Given the description of an element on the screen output the (x, y) to click on. 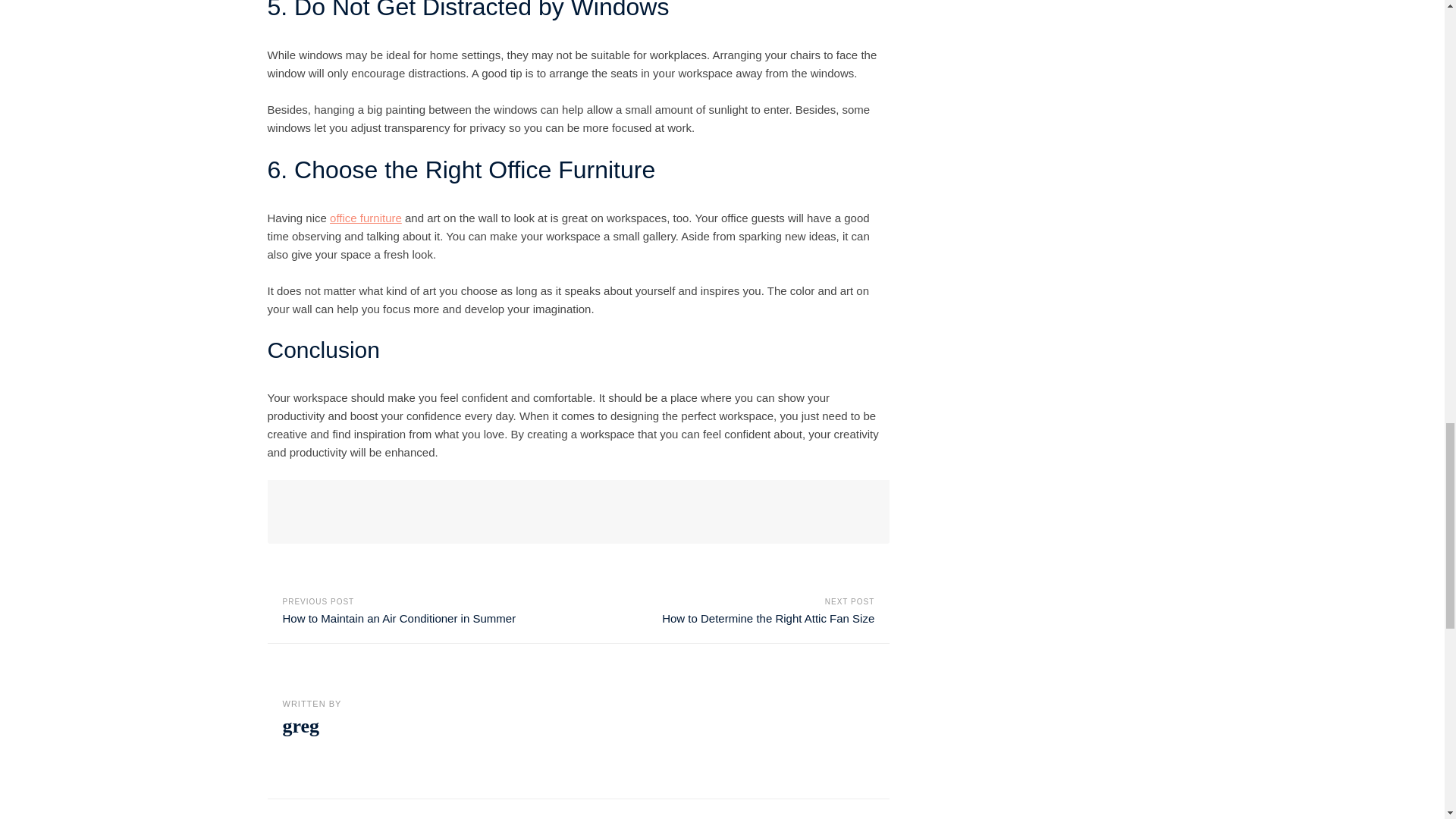
office furniture (365, 217)
greg (300, 725)
How to Maintain an Air Conditioner in Summer (398, 617)
How to Determine the Right Attic Fan Size (768, 617)
